Given the description of an element on the screen output the (x, y) to click on. 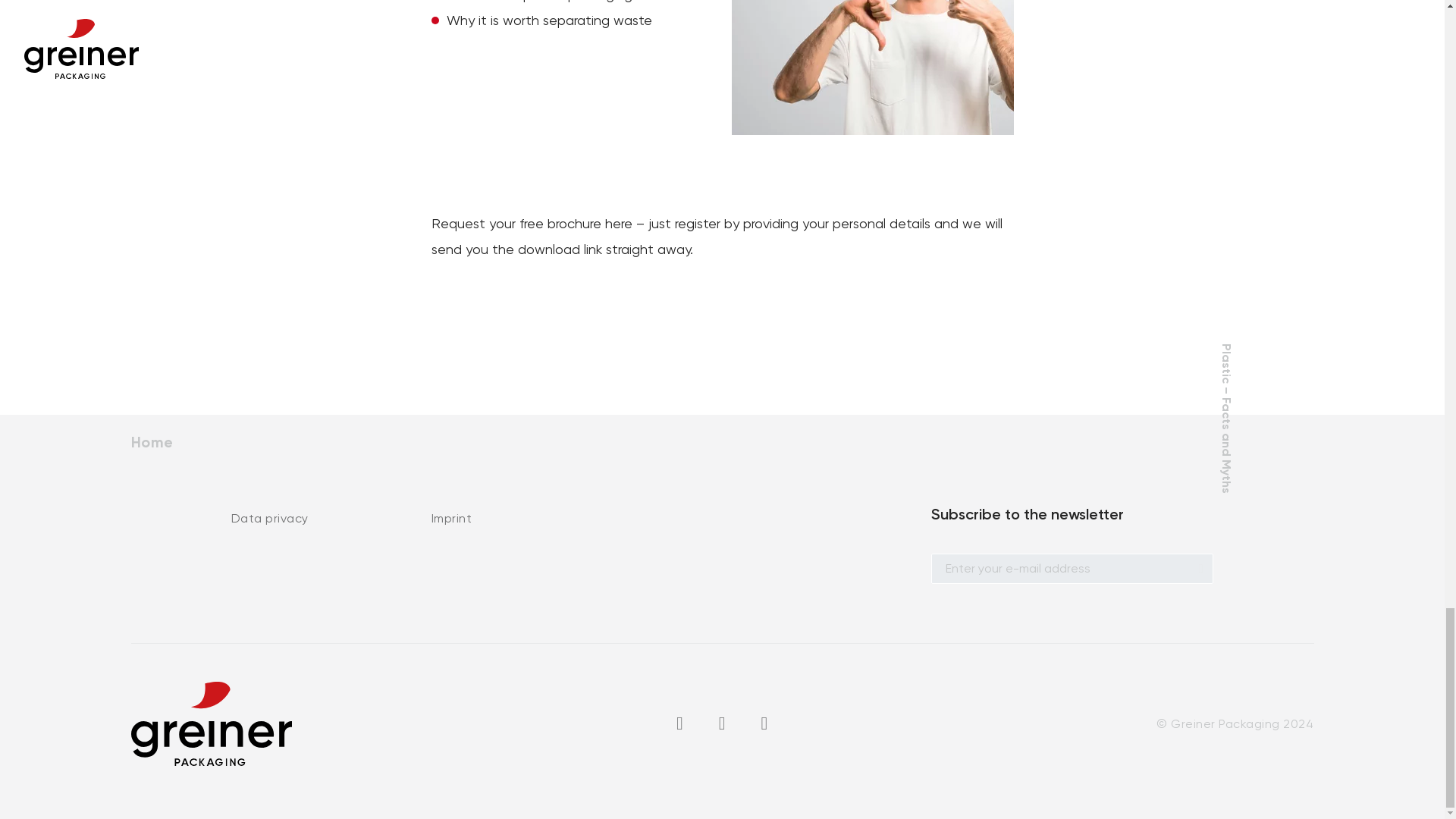
Data privacy (268, 518)
Imprint (450, 518)
